Given the description of an element on the screen output the (x, y) to click on. 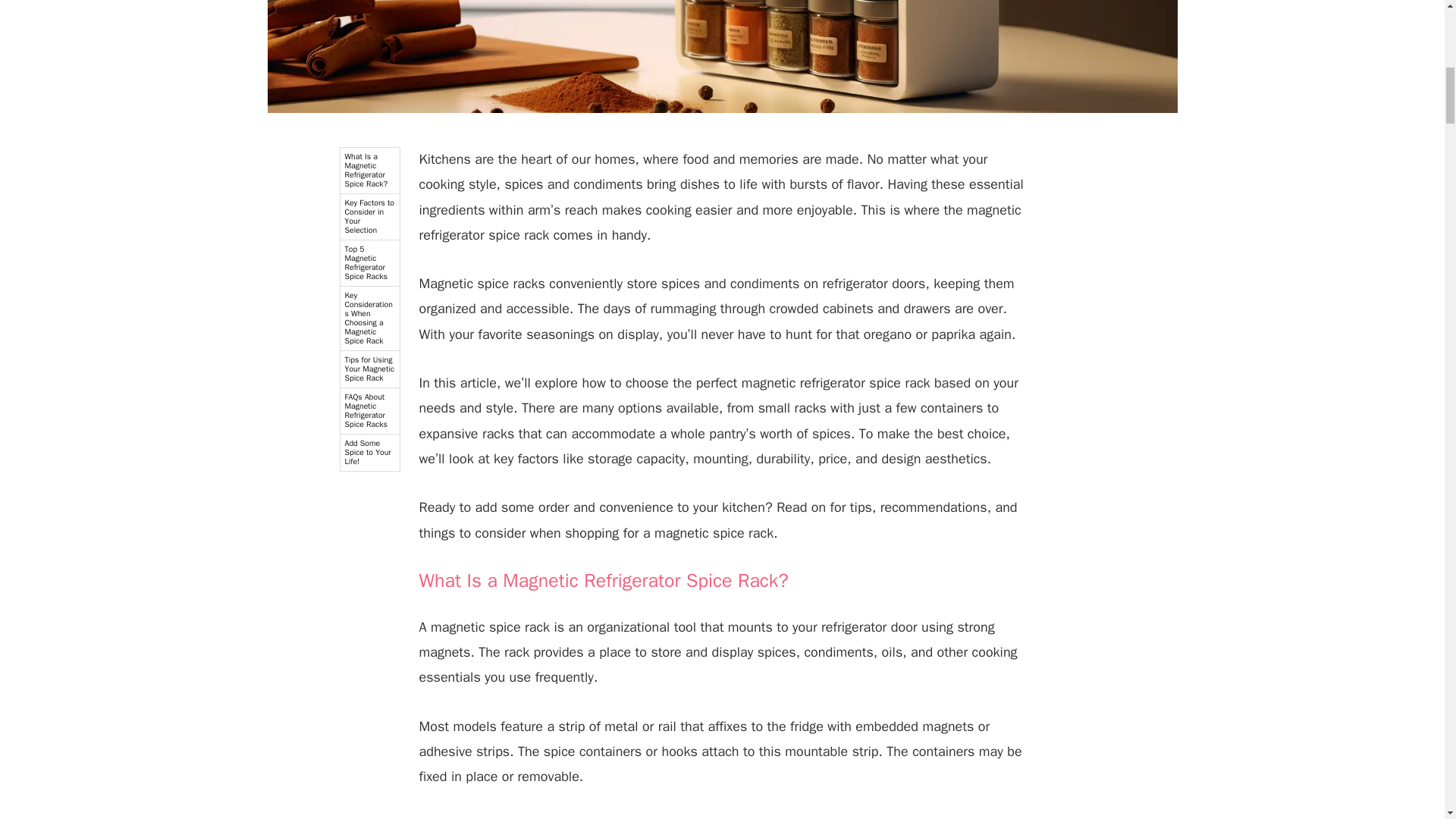
Key Factors to Consider in Your Selection (368, 217)
FAQs About Magnetic Refrigerator Spice Racks (368, 411)
Add Some Spice to Your Life! (368, 452)
Tips for Using Your Magnetic Spice Rack (368, 369)
What Is a Magnetic Refrigerator Spice Rack? (368, 171)
Top 5 Magnetic Refrigerator Spice Racks (368, 263)
Key Considerations When Choosing a Magnetic Spice Rack (368, 318)
